Given the description of an element on the screen output the (x, y) to click on. 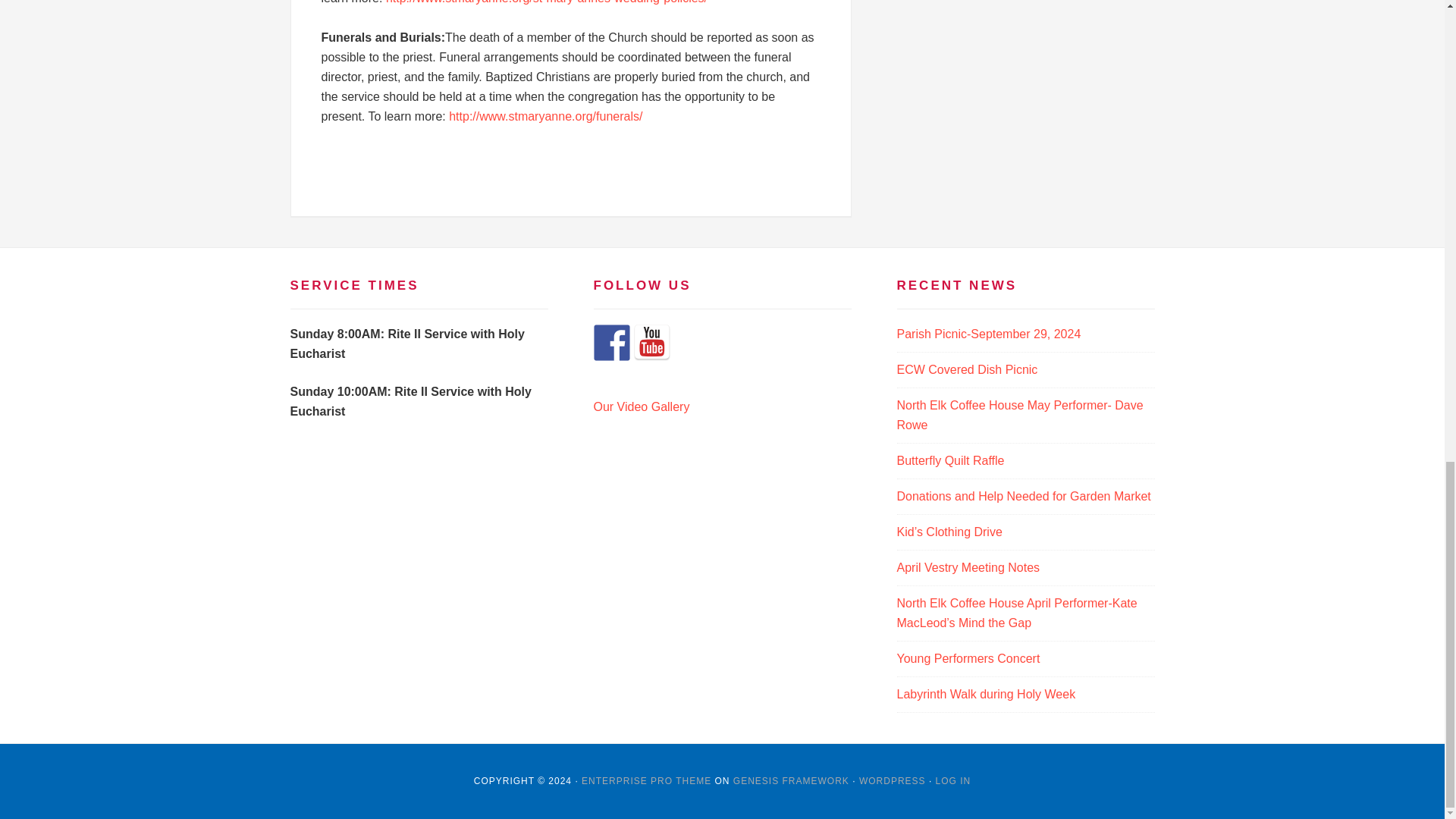
Follow us on Facebook (610, 342)
Find us on YouTube (651, 342)
